Given the description of an element on the screen output the (x, y) to click on. 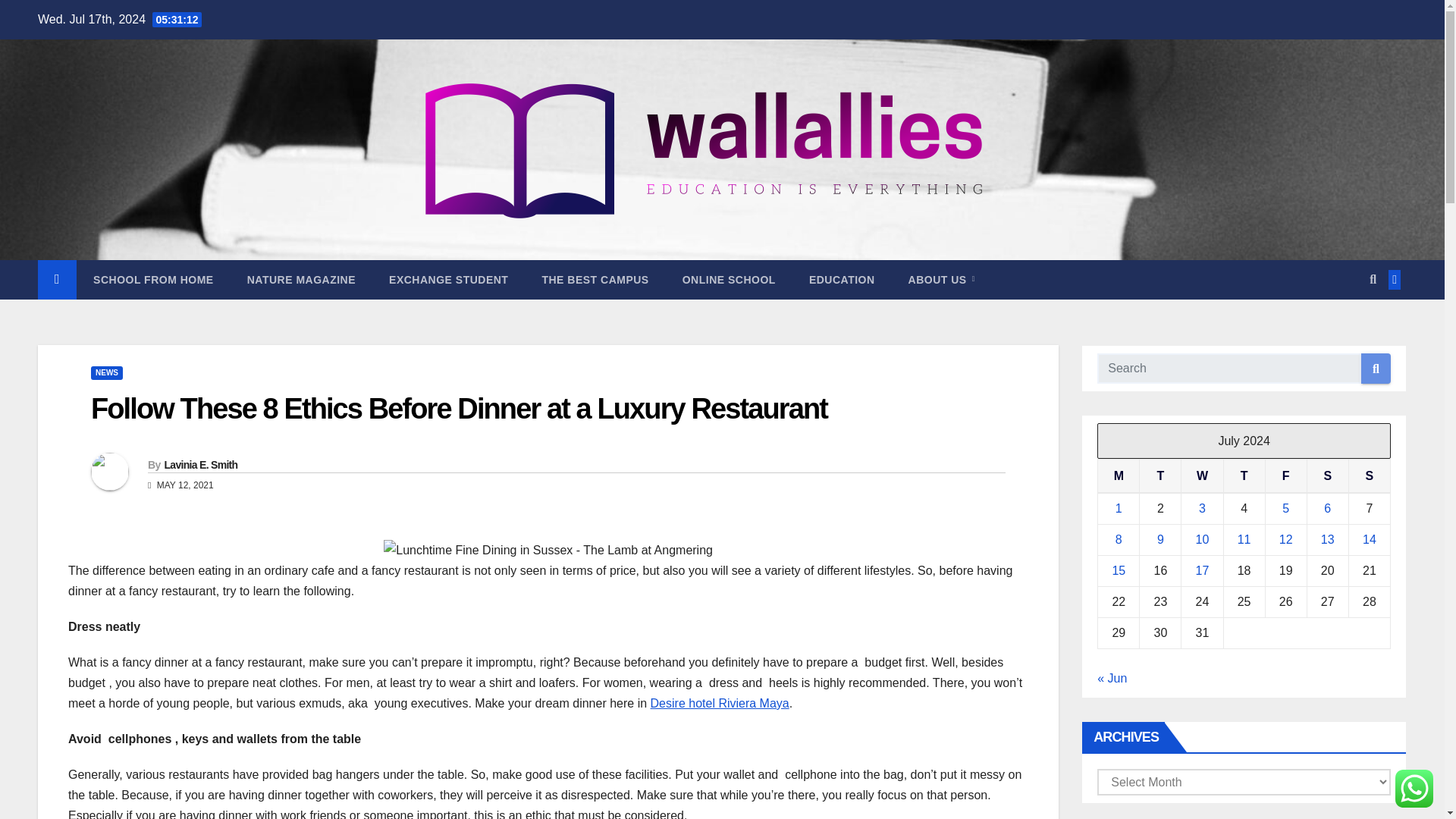
NEWS (106, 373)
EDUCATION (841, 279)
NATURE MAGAZINE (301, 279)
exchange student (448, 279)
About Us (941, 279)
SCHOOL FROM HOME (153, 279)
Nature Magazine (301, 279)
EXCHANGE STUDENT (448, 279)
the best campus (594, 279)
Desire hotel Riviera Maya (719, 703)
Follow These 8 Ethics Before Dinner at a Luxury Restaurant (458, 409)
Education (841, 279)
online school (728, 279)
THE BEST CAMPUS (594, 279)
